Given the description of an element on the screen output the (x, y) to click on. 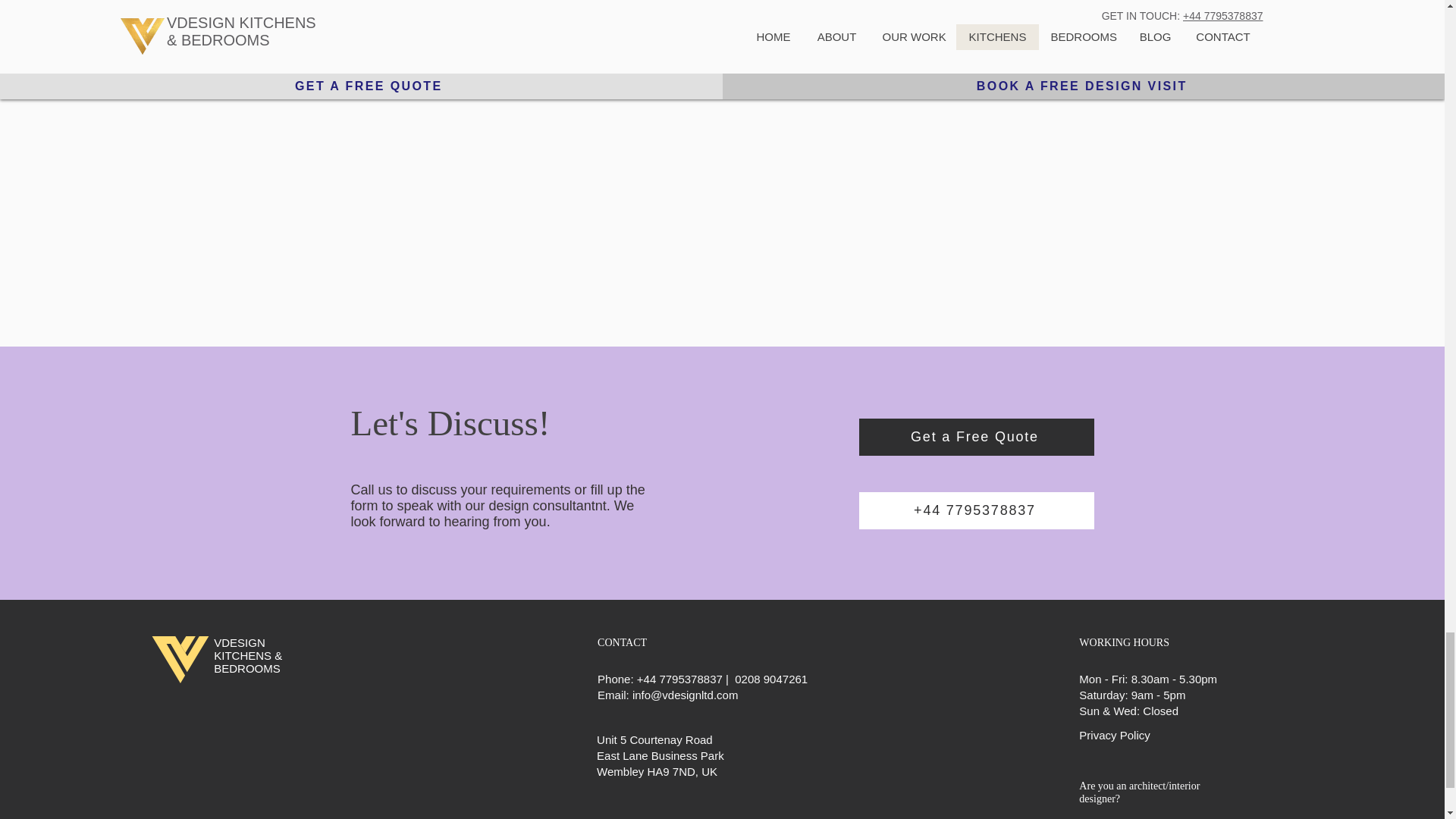
VDESIGN (239, 642)
Get a Free Quote (976, 436)
